Given the description of an element on the screen output the (x, y) to click on. 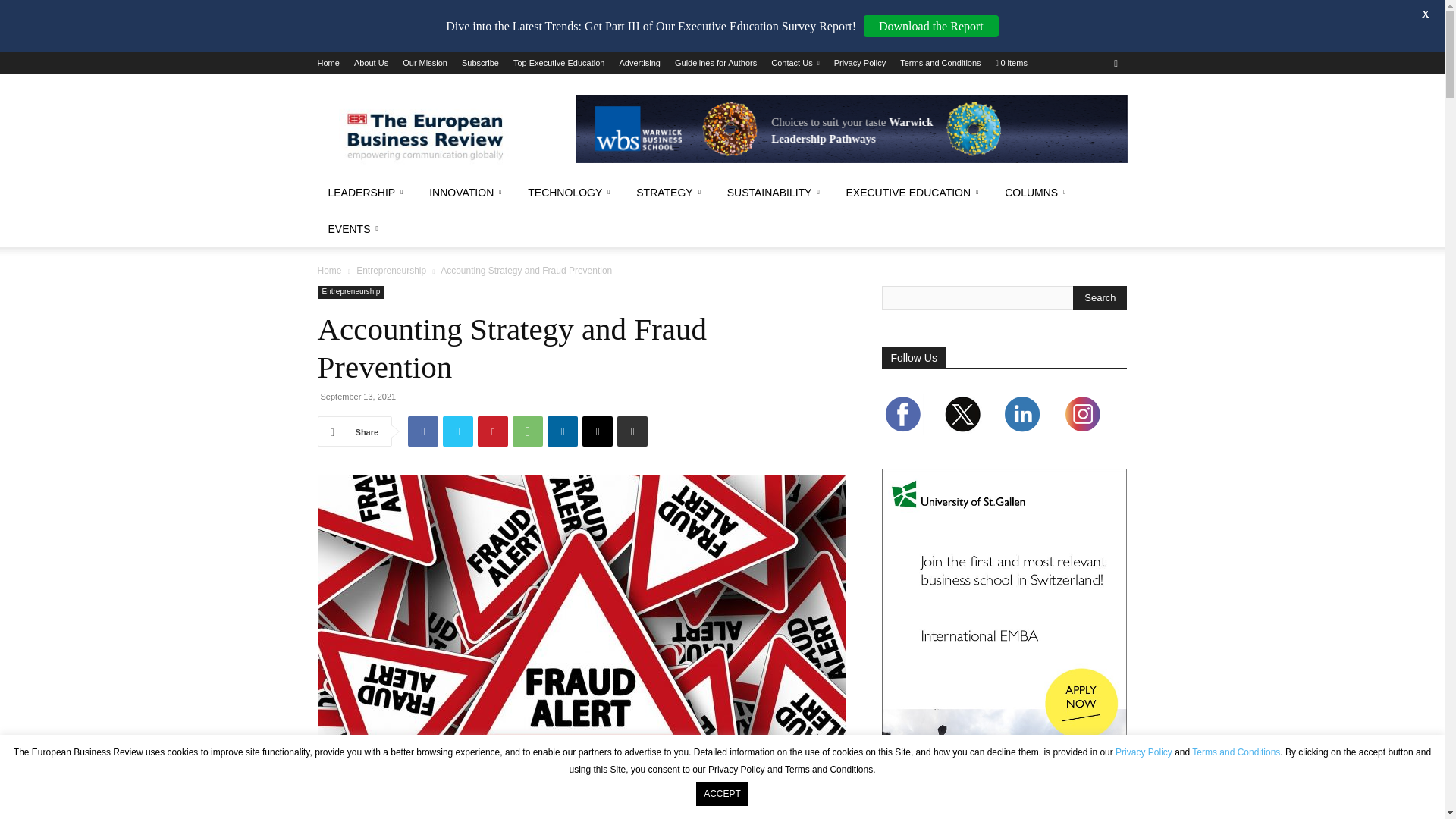
Start shopping (1011, 62)
advertisement (850, 128)
Facebook (422, 431)
Innovation (467, 192)
Pinterest (492, 431)
View all posts in Entrepreneurship (391, 270)
Twitter (457, 431)
Search (1099, 297)
WhatsApp (527, 431)
Linkedin (562, 431)
